Given the description of an element on the screen output the (x, y) to click on. 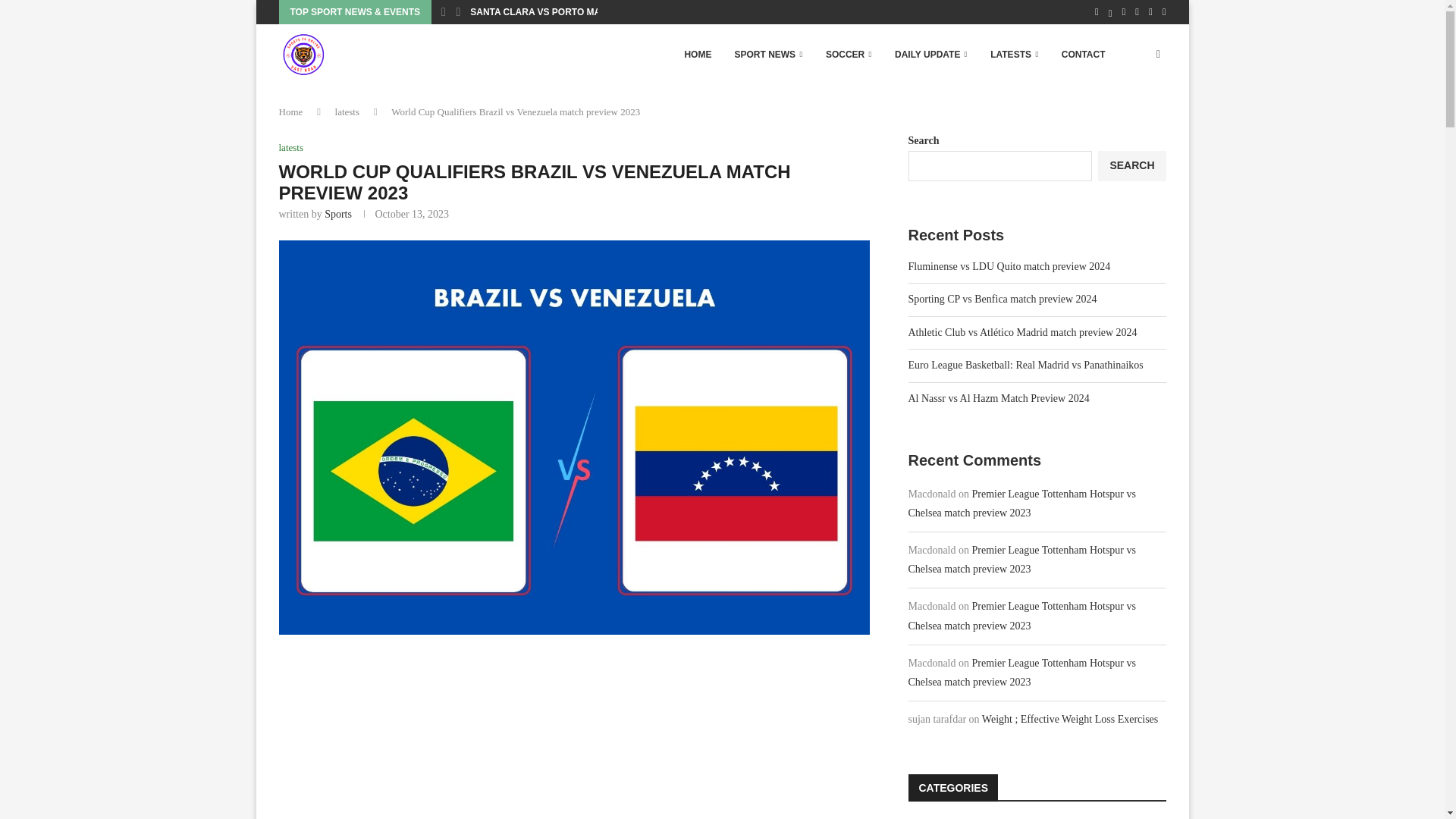
SPORT NEWS (767, 54)
SANTA CLARA VS PORTO MATCH PREVIEW 2024 (577, 12)
